Given the description of an element on the screen output the (x, y) to click on. 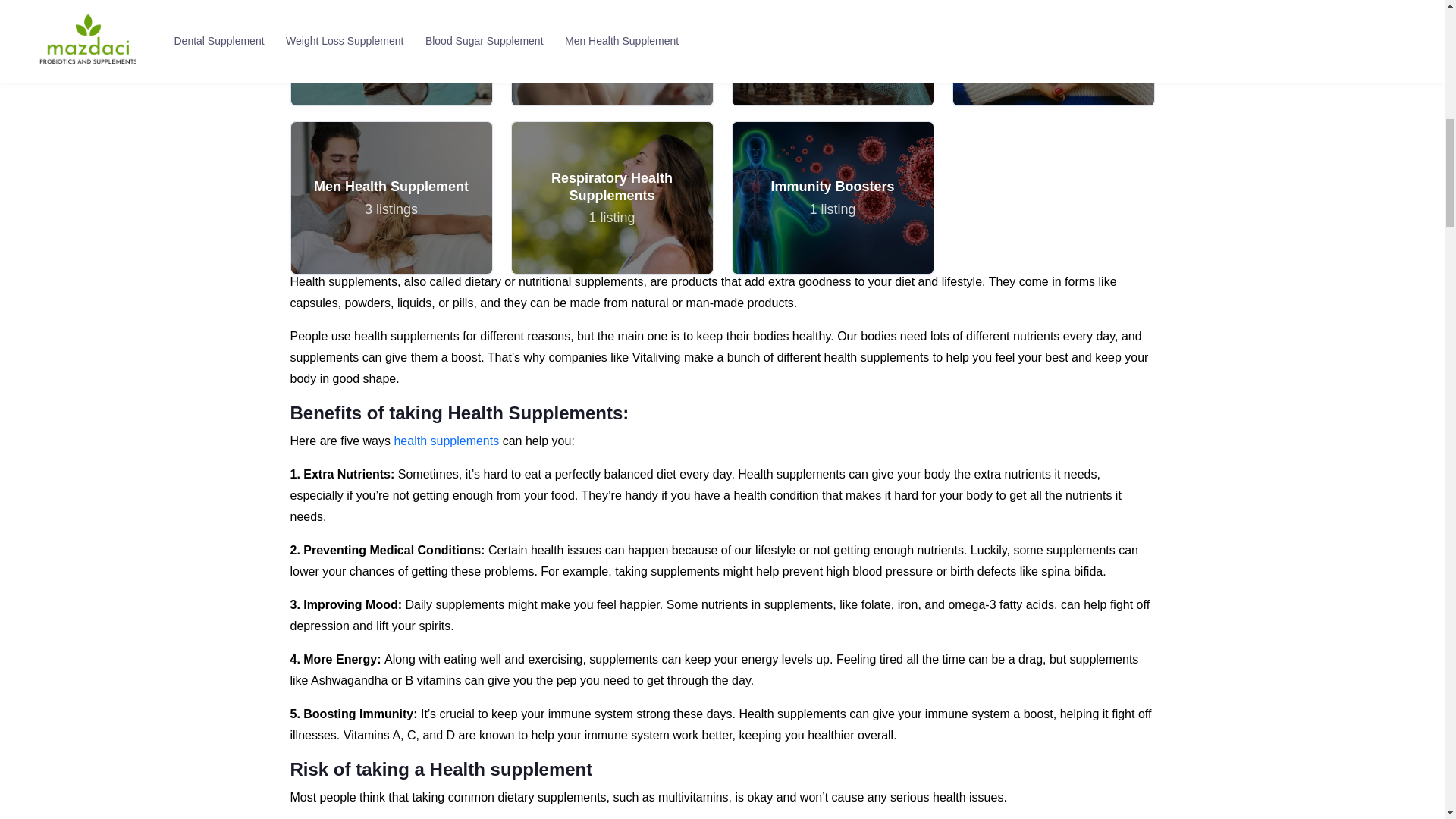
Men Health Supplement (390, 197)
Skin Care (612, 53)
Brain Health (390, 196)
Immunity Boosters (390, 53)
Nail Care (611, 52)
Hair Care (832, 52)
health supplements (832, 196)
Respiratory Health Supplements (831, 197)
